Given the description of an element on the screen output the (x, y) to click on. 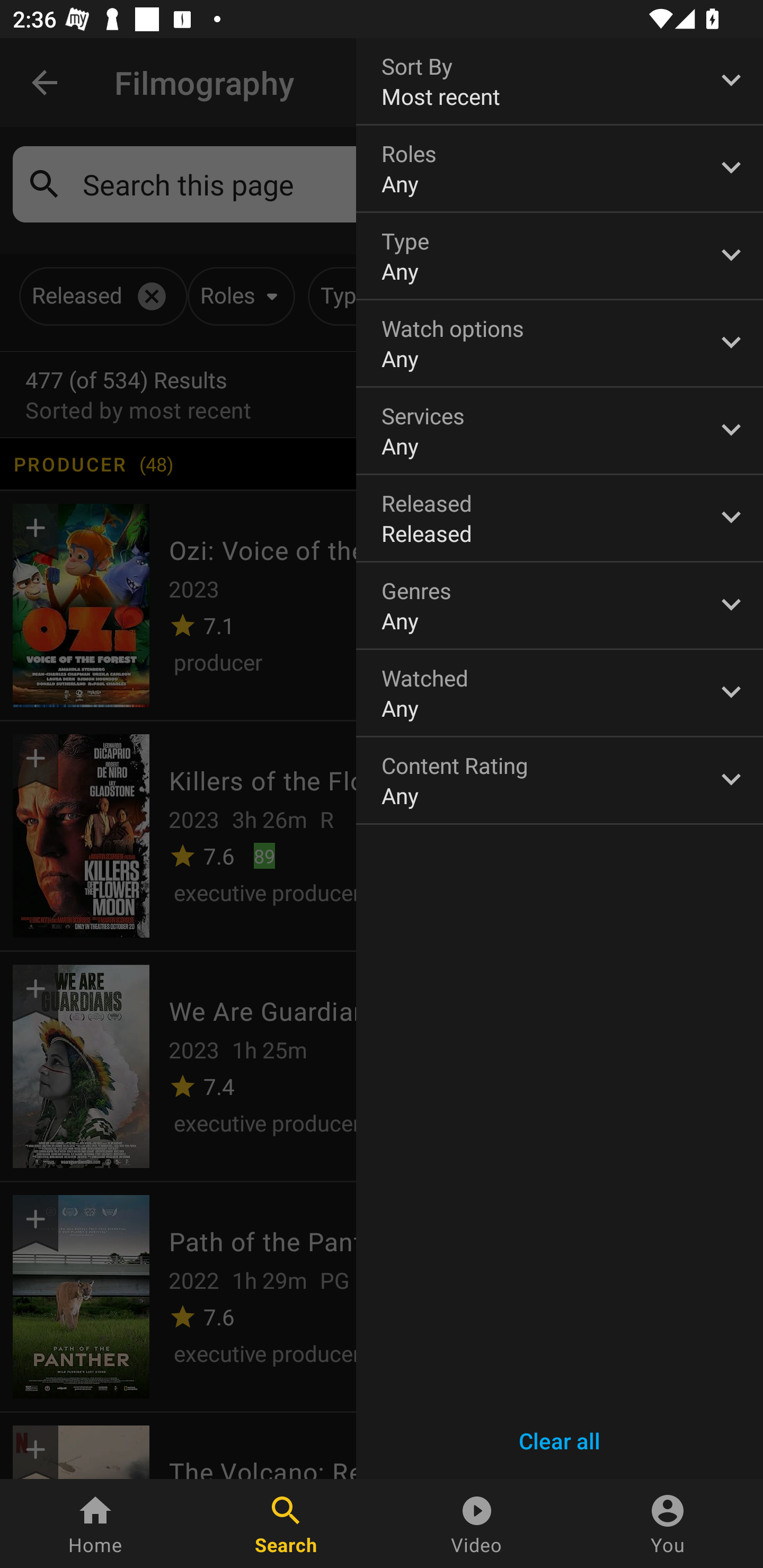
Sort By Most recent (559, 80)
Roles Any (559, 168)
Type Any (559, 256)
Watch options Any (559, 343)
Services Any (559, 430)
Released (559, 518)
Genres Any (559, 605)
Watched Any (559, 692)
Content Rating Any (559, 779)
Clear all (559, 1440)
Home (95, 1523)
Video (476, 1523)
You (667, 1523)
